Given the description of an element on the screen output the (x, y) to click on. 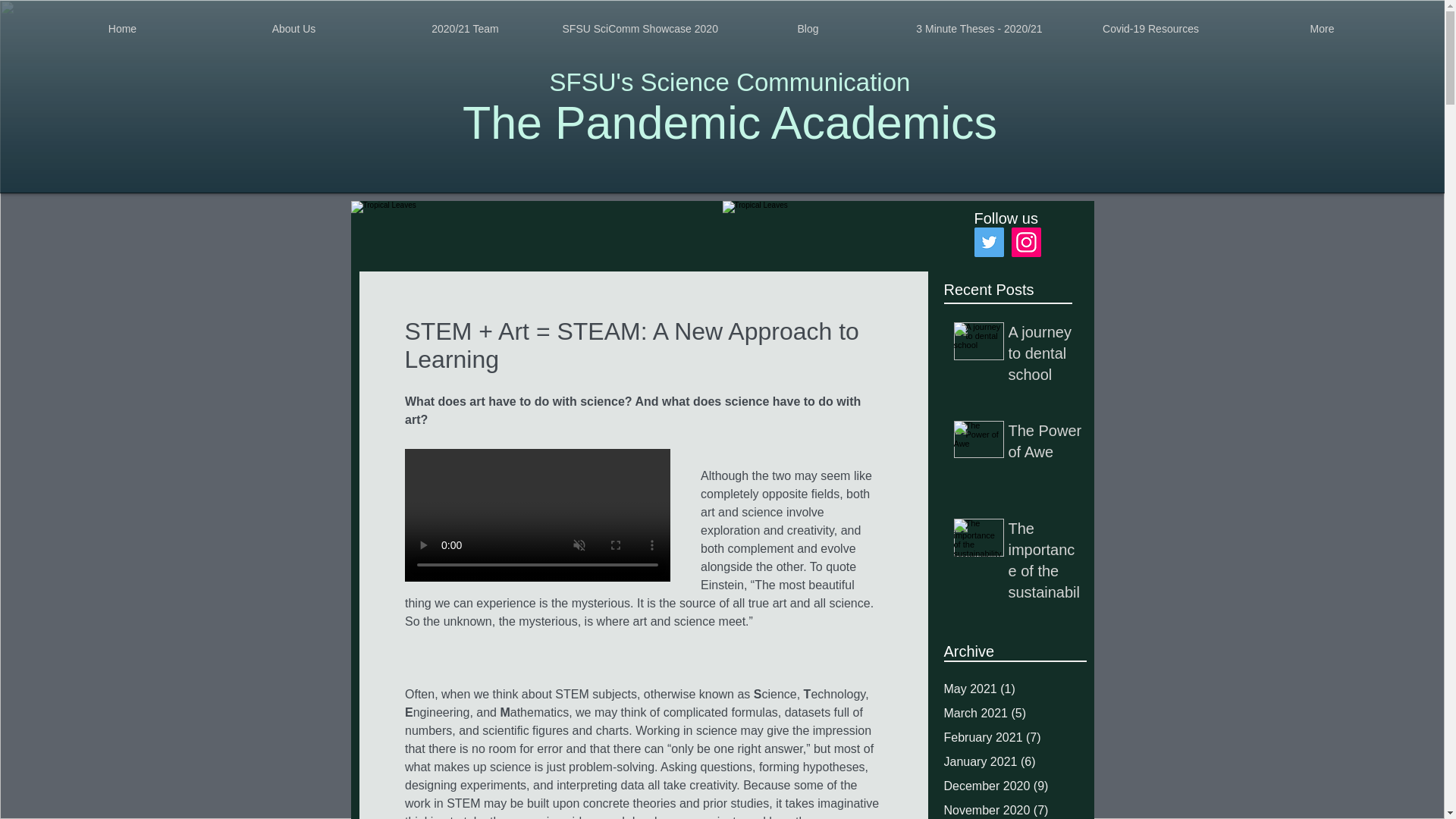
About Us (293, 29)
The Power of Awe (1046, 444)
A journey to dental school (1046, 356)
SFSU SciComm Showcase 2020 (636, 29)
Home (122, 29)
Covid-19 Resources (1150, 29)
Blog (807, 29)
